Given the description of an element on the screen output the (x, y) to click on. 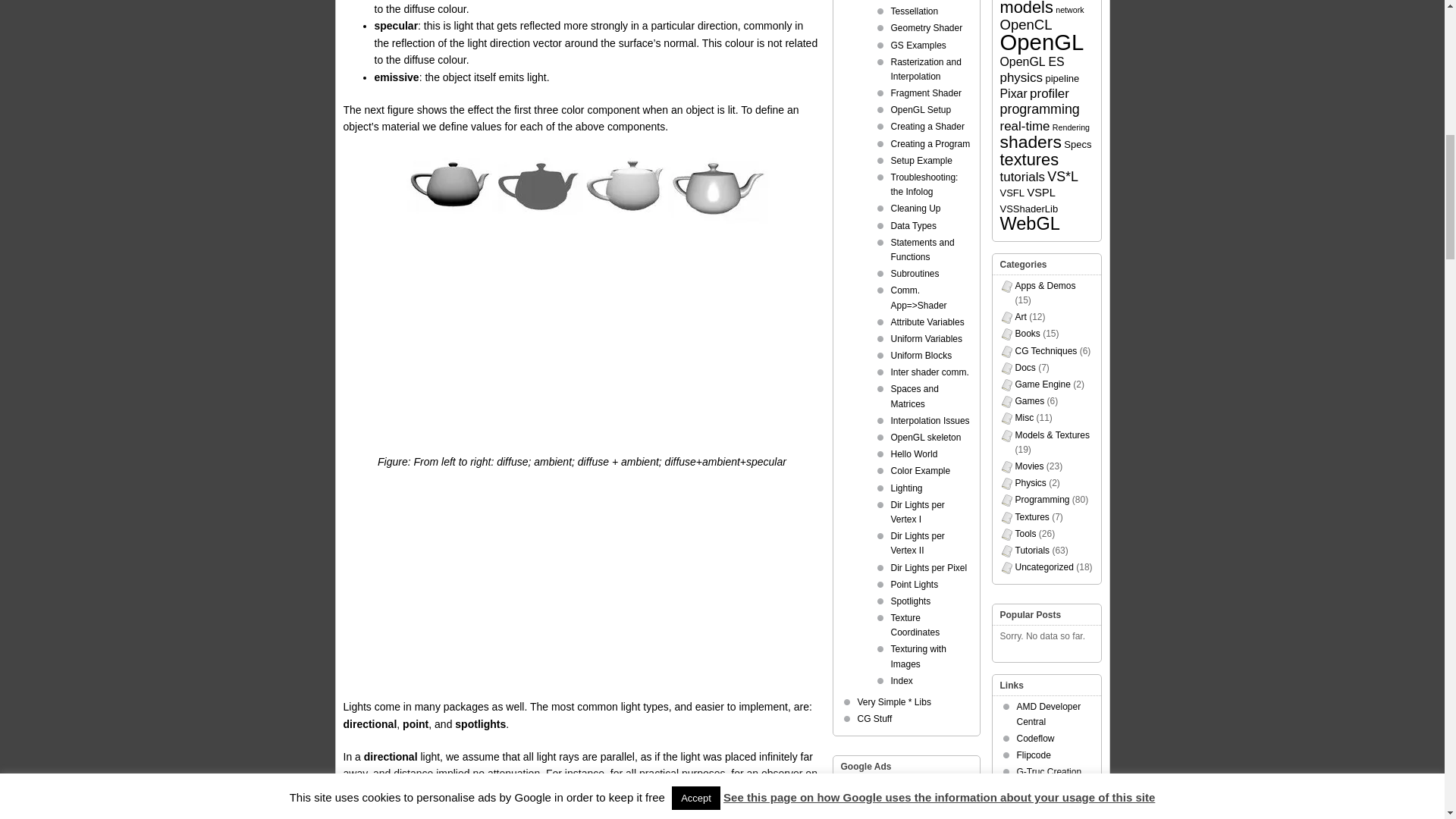
Advertisement (581, 346)
Advertisement (581, 592)
materials (581, 188)
